Given the description of an element on the screen output the (x, y) to click on. 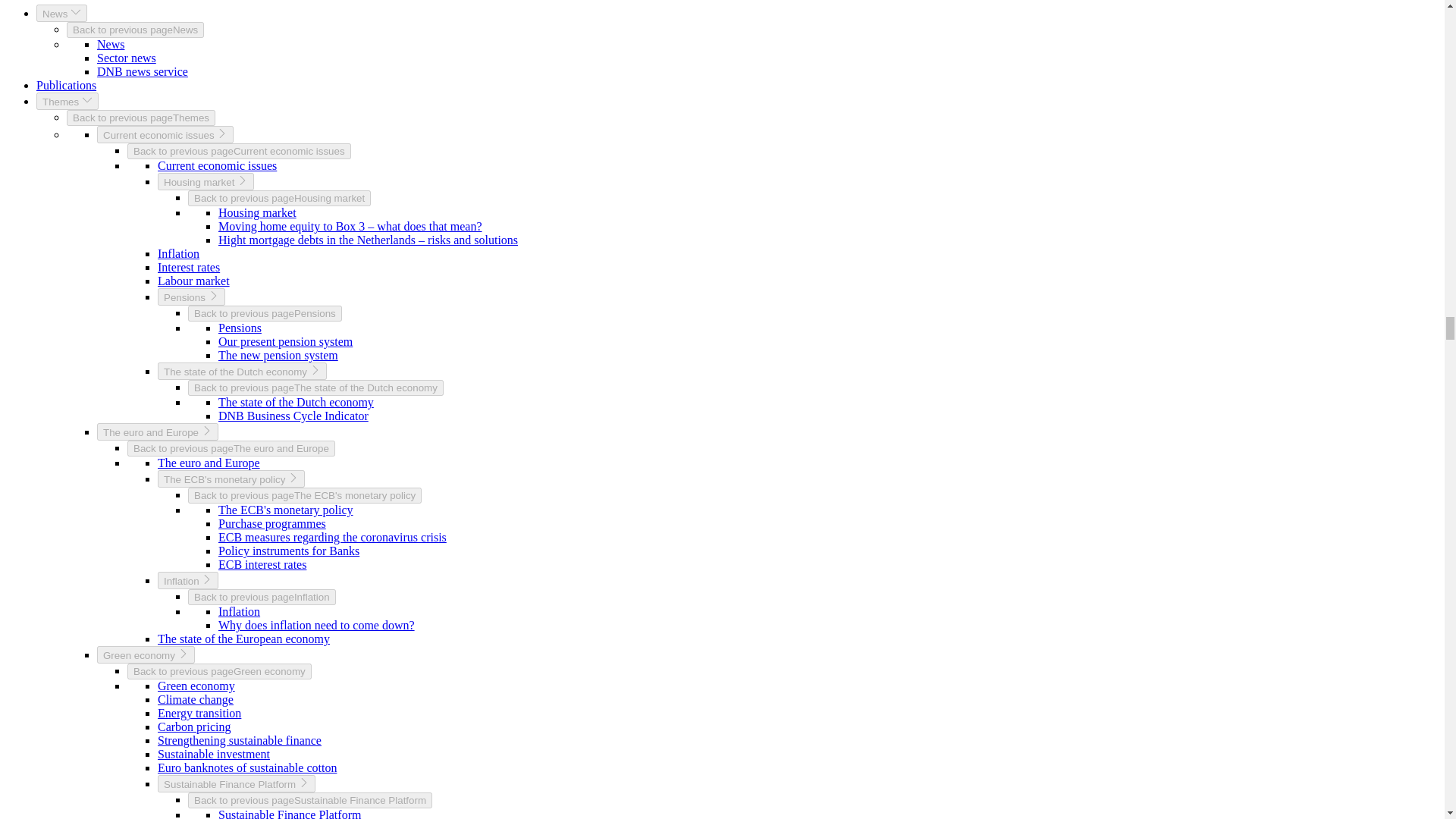
DNB news service (142, 71)
News (61, 13)
Housing market (205, 181)
News (110, 43)
Current economic issues (216, 164)
Inflation (178, 253)
Interest rates (188, 267)
Sector news (126, 57)
Themes (67, 100)
Housing market (257, 212)
